Given the description of an element on the screen output the (x, y) to click on. 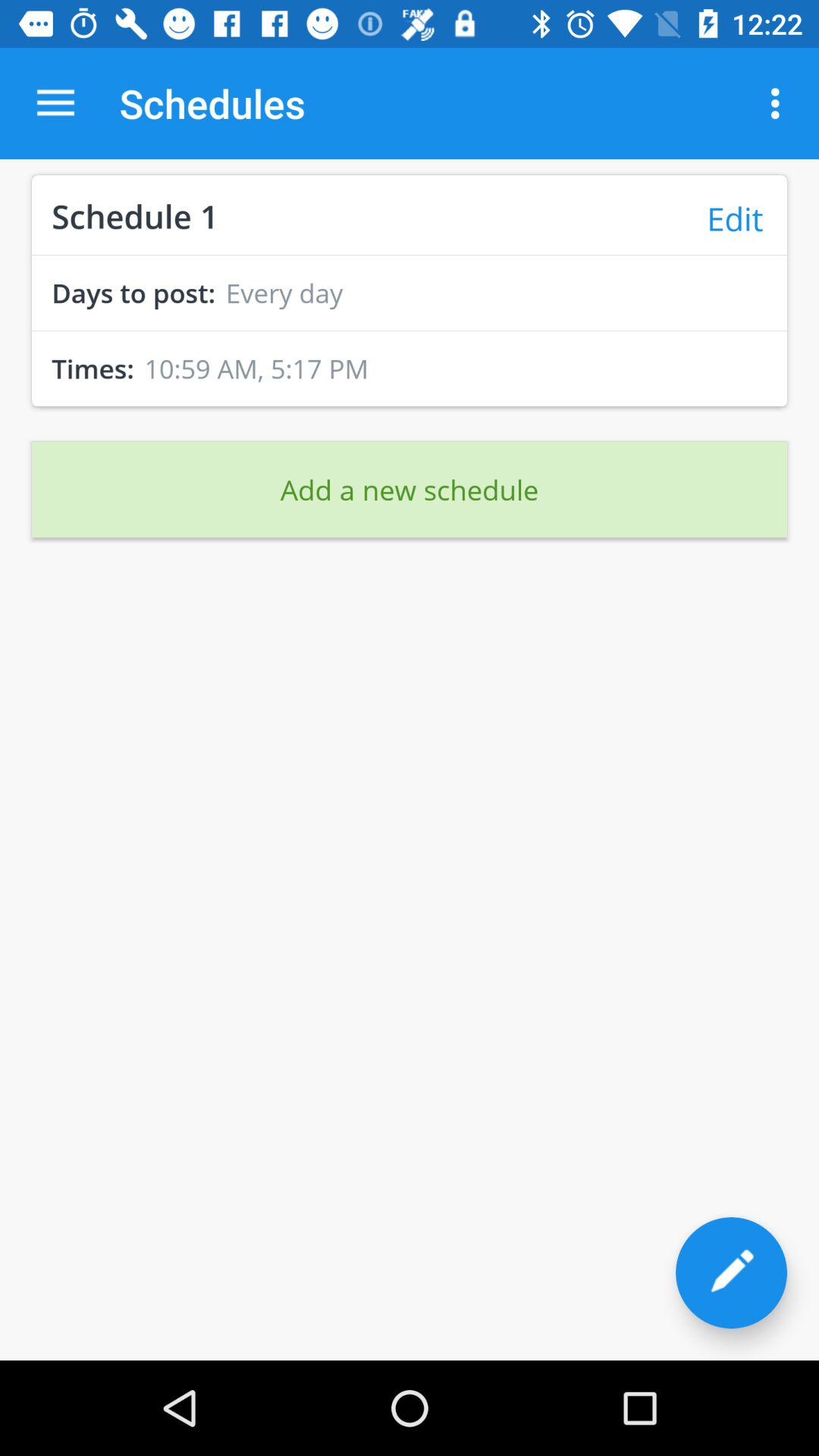
launch icon above the days to post: item (409, 254)
